Given the description of an element on the screen output the (x, y) to click on. 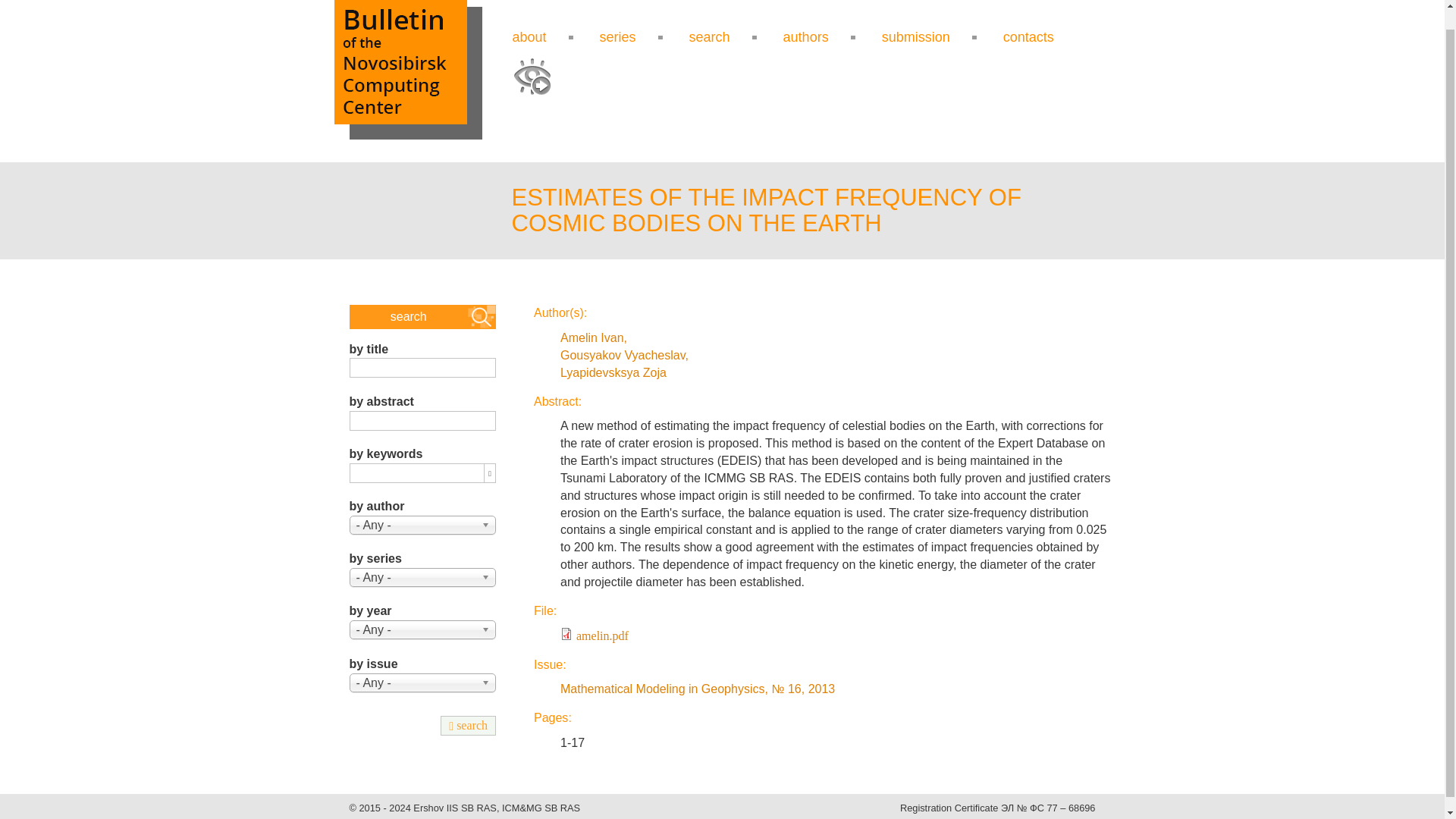
- Any - (422, 577)
Visually impaired site version (532, 76)
- Any - (422, 524)
contacts (1028, 37)
search (709, 37)
about (529, 37)
Version for the visually impaired (532, 76)
submission (916, 37)
Home (407, 69)
authors (805, 37)
